Given the description of an element on the screen output the (x, y) to click on. 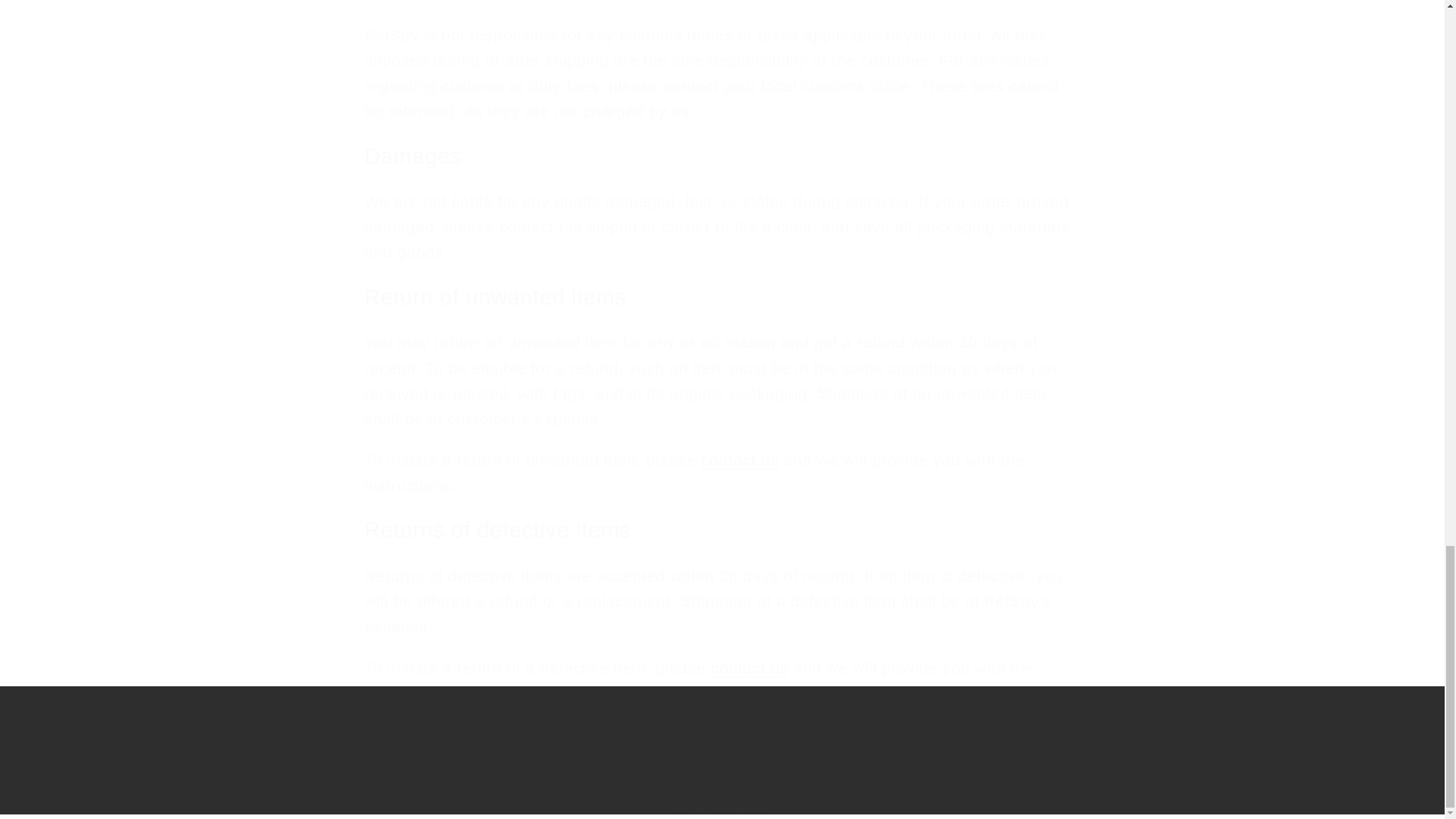
Click to visit page with Contact Form (739, 459)
Click to visit page with Contact Form (749, 667)
